Given the description of an element on the screen output the (x, y) to click on. 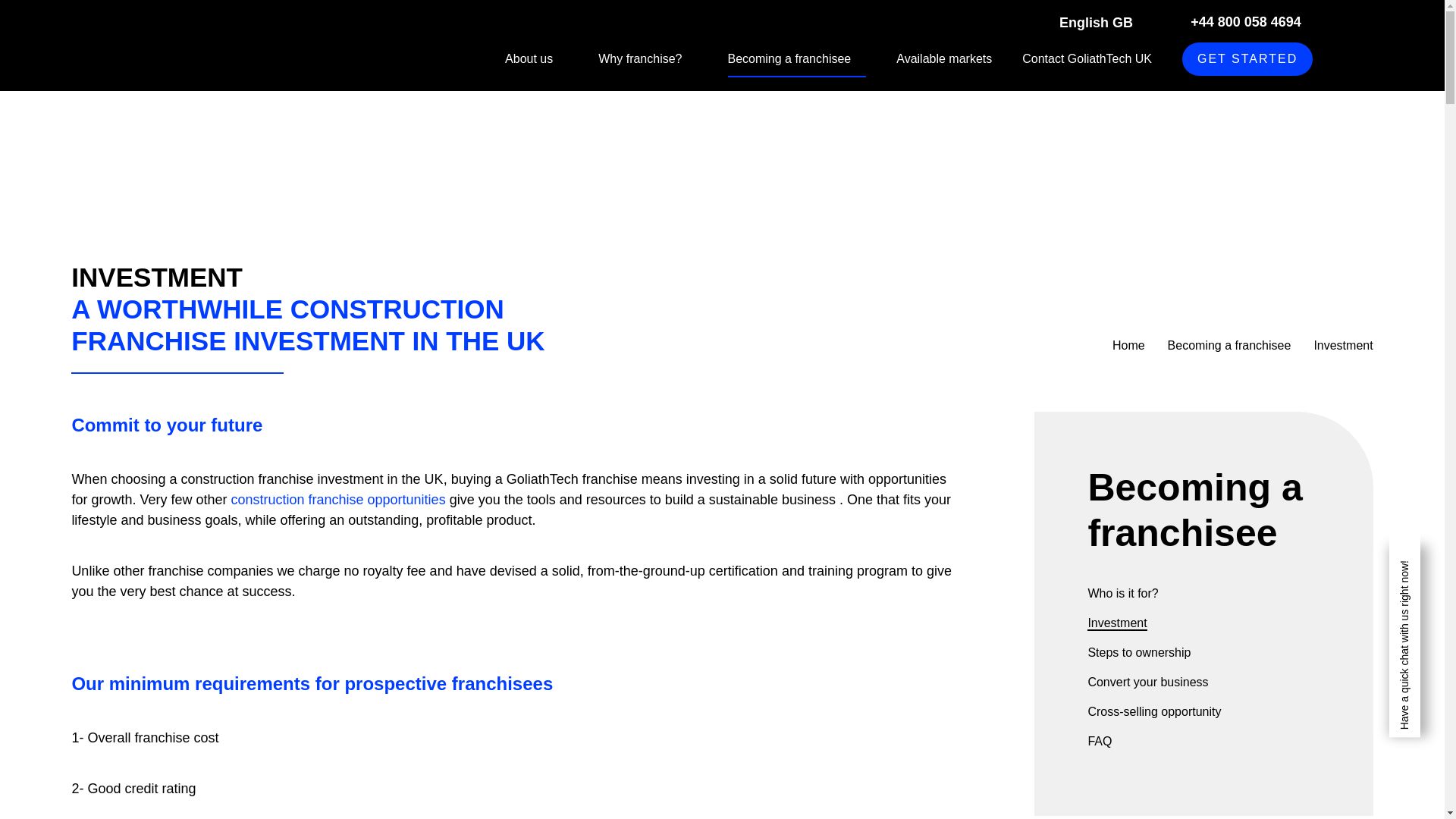
Contact GoliathTech UK (1086, 57)
GET STARTED (1247, 59)
Available markets (943, 57)
English GB (1108, 22)
Why franchise? (647, 57)
Becoming a franchisee (797, 57)
About us (536, 57)
